Given the description of an element on the screen output the (x, y) to click on. 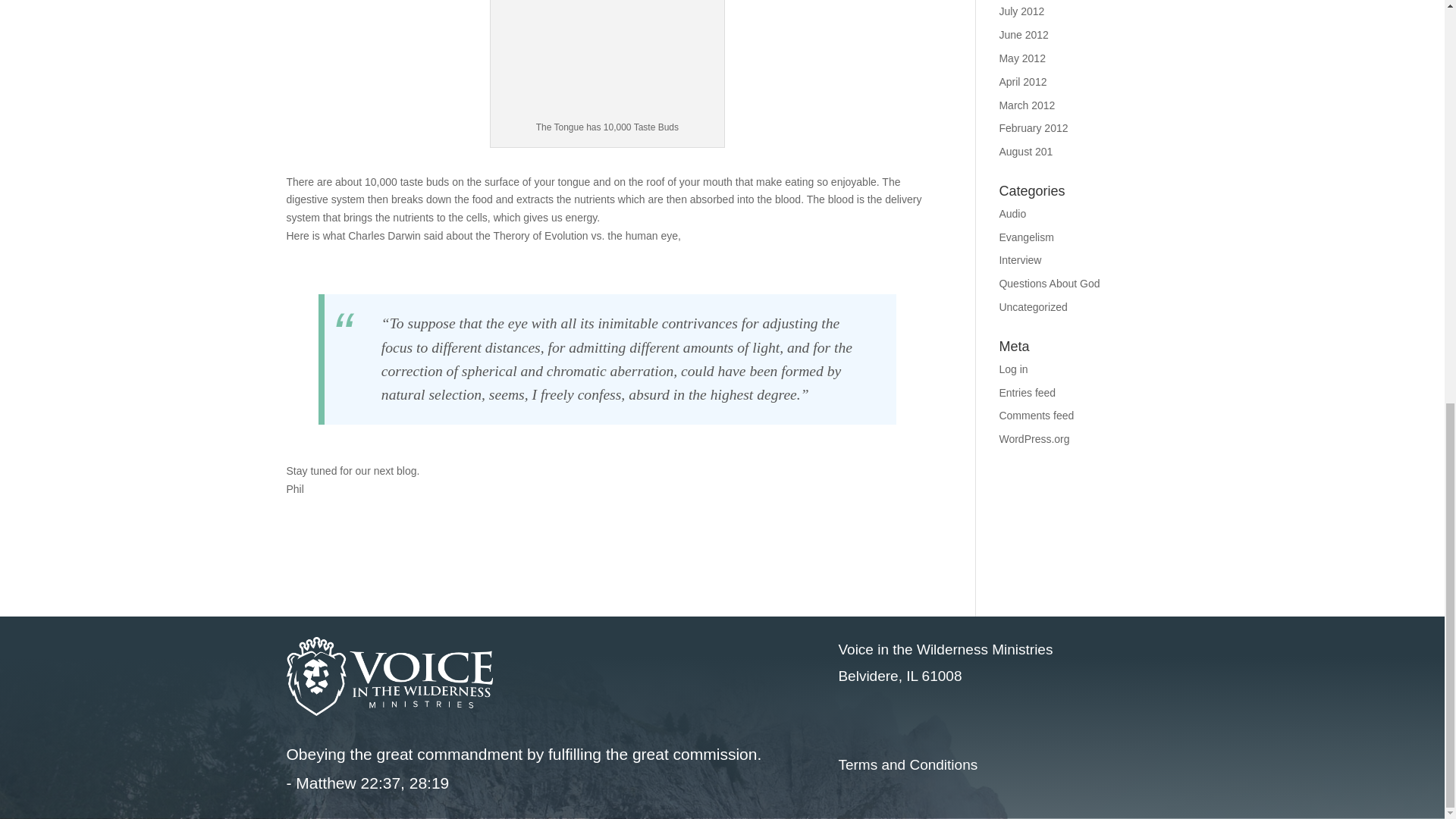
Logo-Full-Wide-White (389, 676)
tongue-dt-2-431x300 (606, 59)
